Given the description of an element on the screen output the (x, y) to click on. 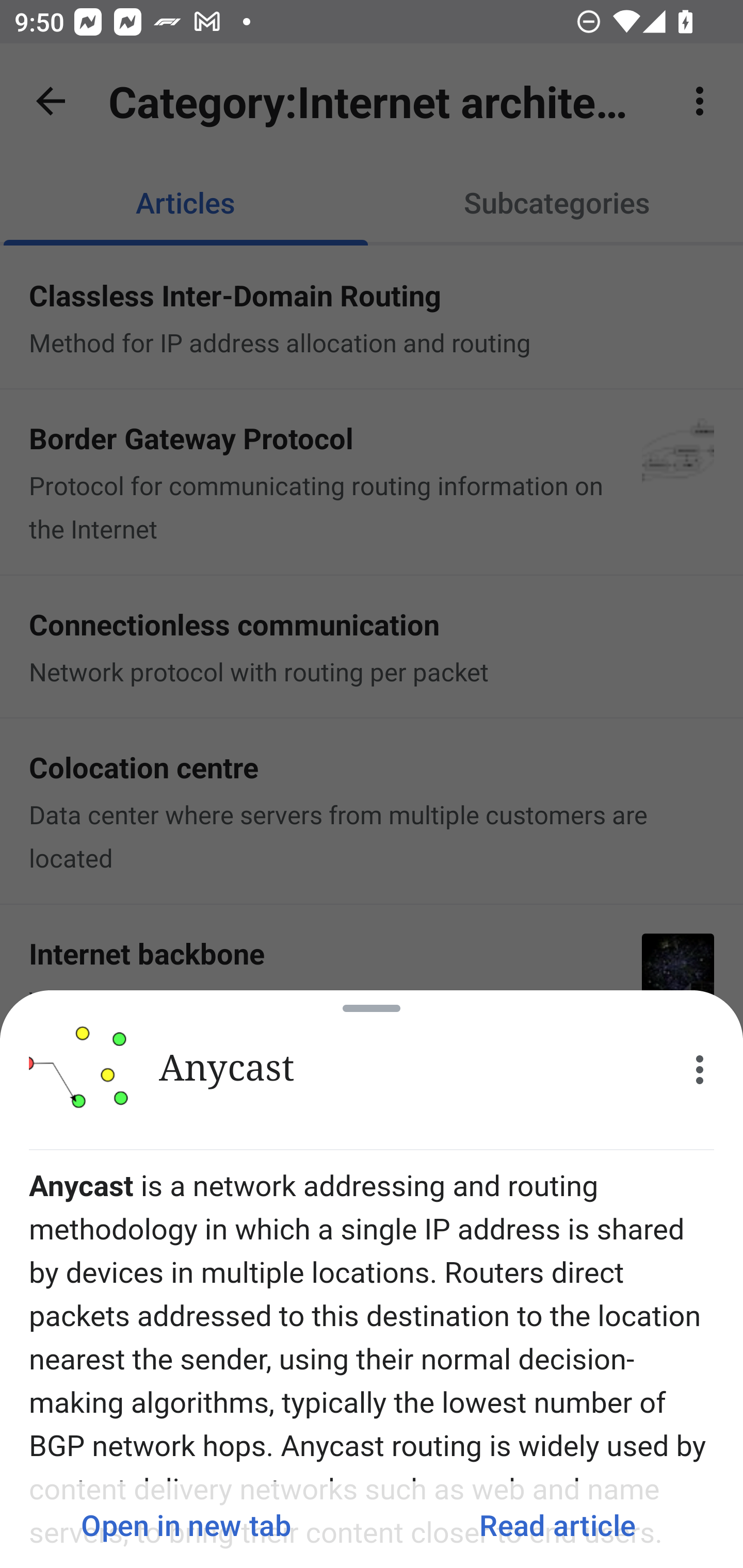
Anycast More options (371, 1069)
More options (699, 1070)
Open in new tab (185, 1524)
Read article (557, 1524)
